Given the description of an element on the screen output the (x, y) to click on. 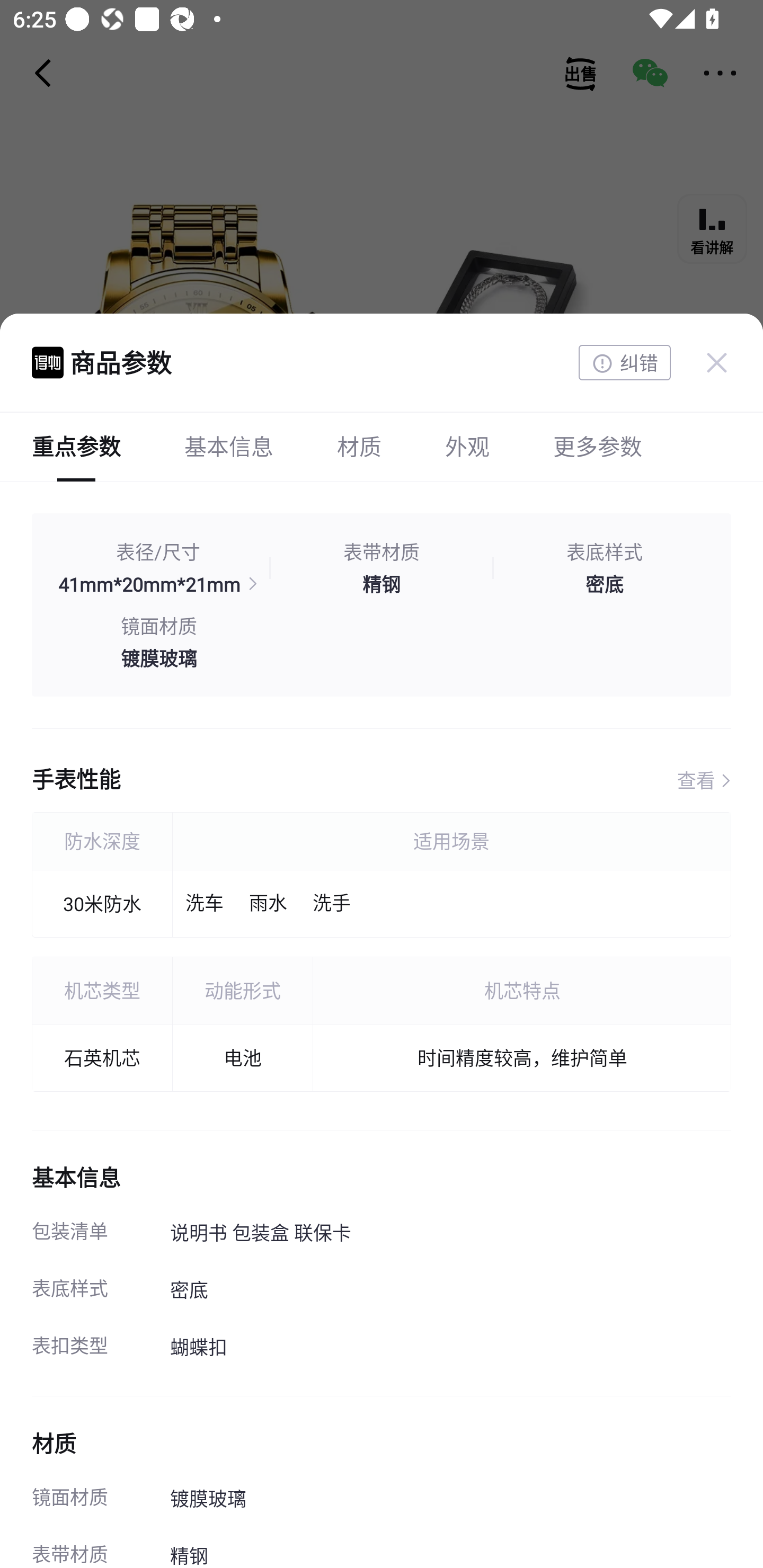
 (716, 362)
纠错 (624, 362)
重点参数 (76, 445)
基本信息 (228, 445)
材质 (359, 445)
外观 (467, 445)
更多参数 (597, 445)
表径/尺寸 41mm*20mm*21mm (158, 568)
表带材质 精钢 (381, 568)
表底样式 密底 (604, 568)
41mm*20mm*21mm (157, 583)
精钢 (381, 583)
密底 (604, 583)
镜面材质 镀膜玻璃 (158, 642)
镀膜玻璃 (158, 657)
洗车 (204, 903)
雨水 (267, 903)
洗手 (331, 903)
说明书 包装盒 联保卡 (450, 1233)
密底 (450, 1291)
蝴蝶扣 (450, 1348)
镀膜玻璃 (450, 1499)
精钢 (450, 1548)
